Given the description of an element on the screen output the (x, y) to click on. 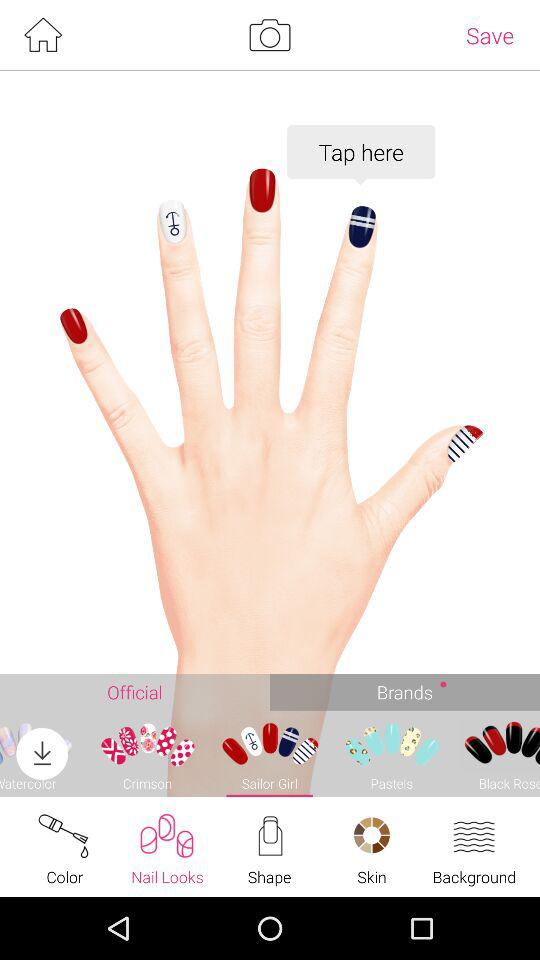
click on dot which beside brands (443, 684)
click on the camera button at the top center of the page (269, 35)
click on the text color at the bottom of the page (65, 846)
